Given the description of an element on the screen output the (x, y) to click on. 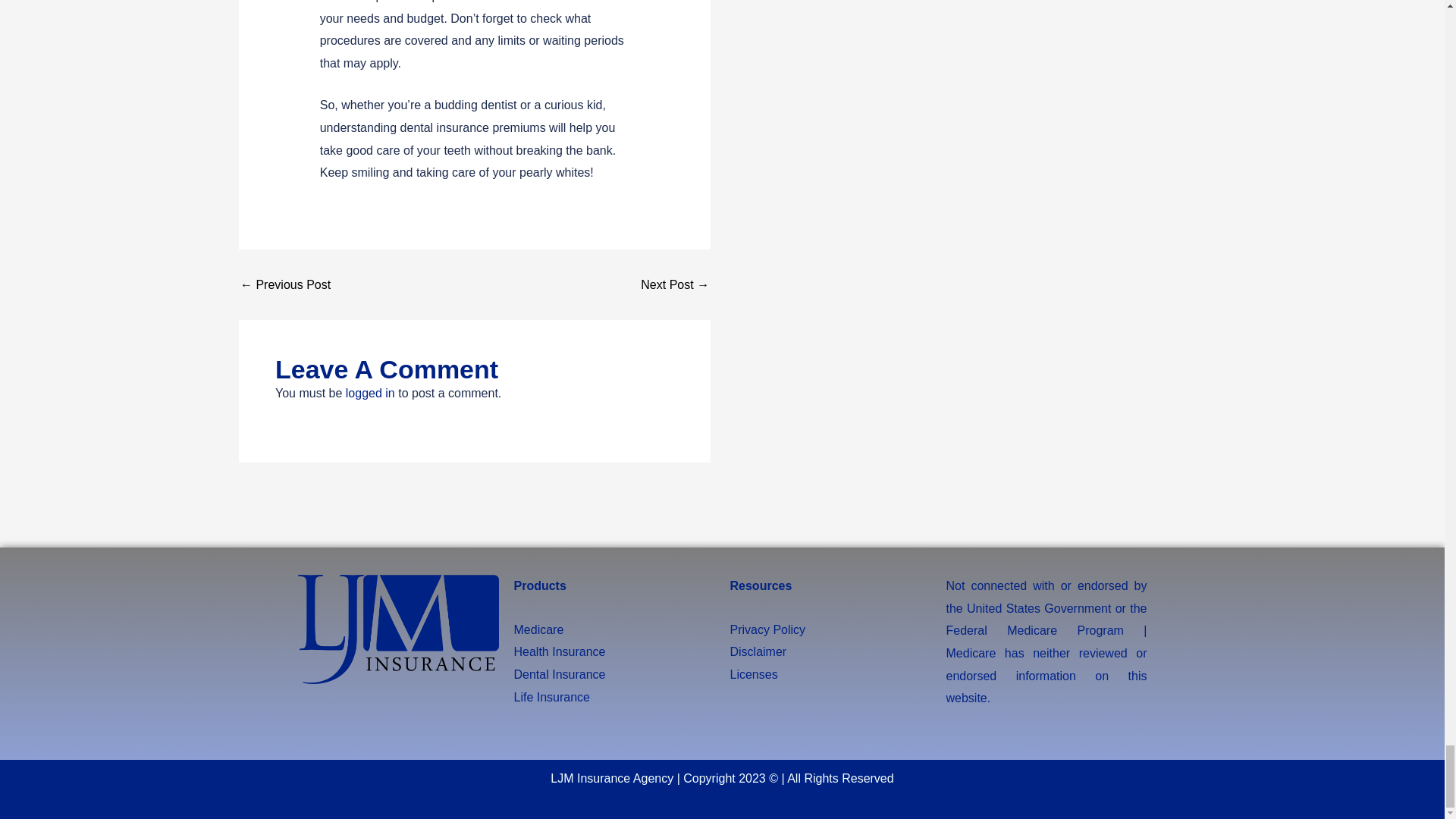
logged in (370, 392)
Life Insurance (552, 697)
Privacy Policy (767, 629)
Dental Insurance (559, 674)
Medicare (538, 629)
What Is A Deductible In Health Insurance? (285, 285)
Health Insurance (559, 651)
